Given the description of an element on the screen output the (x, y) to click on. 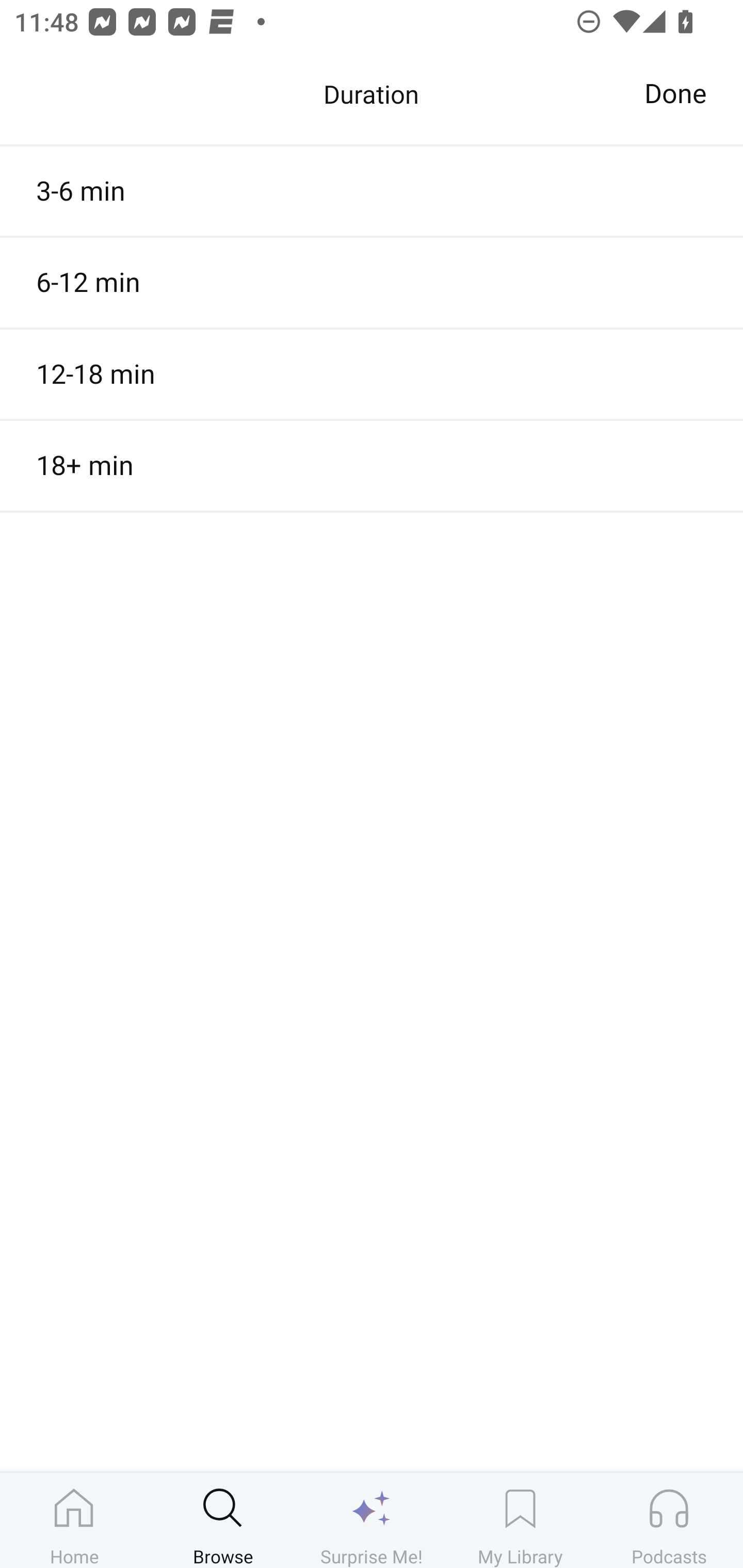
Culture (371, 100)
Done (675, 93)
Sarah Jones: Let's reframe cancel culture (371, 202)
Ronald Murray: The language of ballroom culture (371, 386)
18+ min (371, 465)
Home (74, 1520)
Browse (222, 1520)
Surprise Me! (371, 1520)
My Library (519, 1520)
Podcasts (668, 1520)
